Given the description of an element on the screen output the (x, y) to click on. 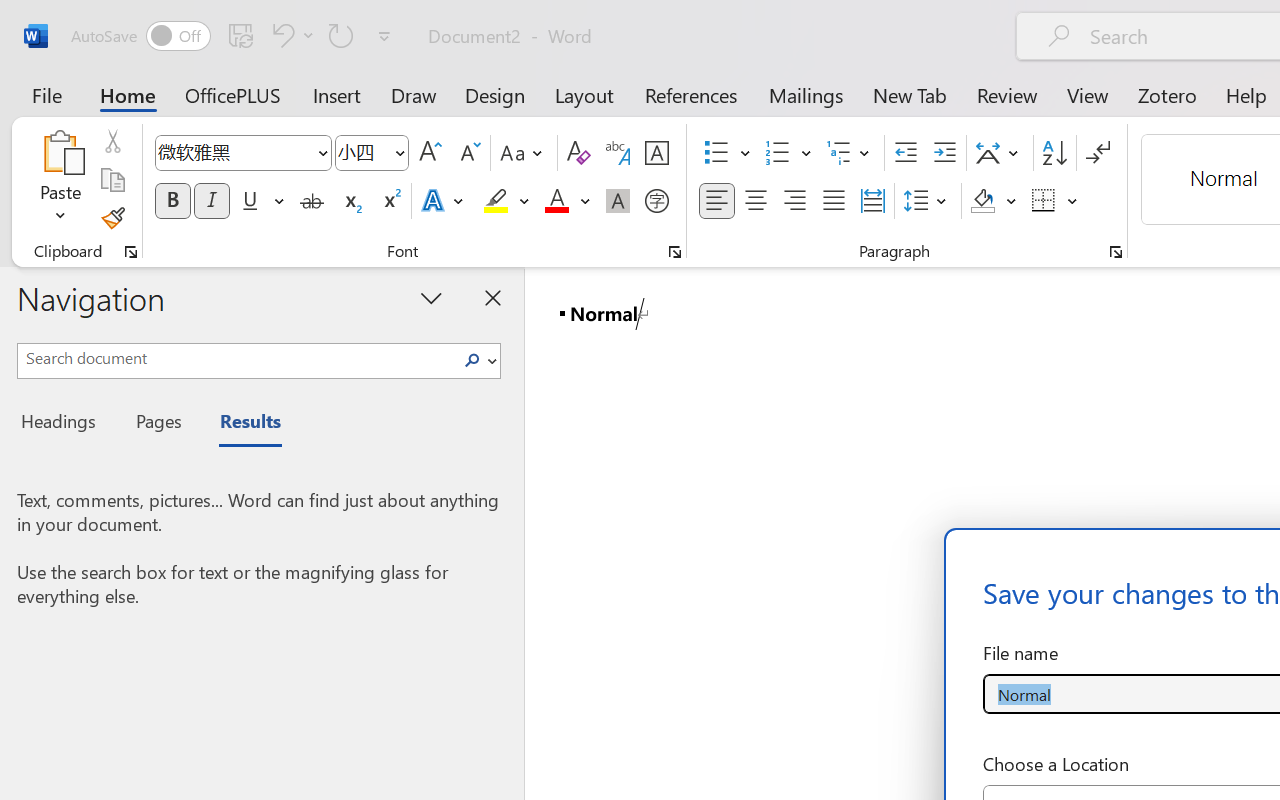
Distributed (872, 201)
Headings (64, 424)
Paste (60, 151)
Open (399, 152)
Copy (112, 179)
Home (127, 94)
Quick Access Toolbar (233, 36)
Sort... (1054, 153)
Numbering (788, 153)
Paste (60, 179)
References (690, 94)
Mailings (806, 94)
Increase Indent (944, 153)
Shading RGB(0, 0, 0) (982, 201)
